Given the description of an element on the screen output the (x, y) to click on. 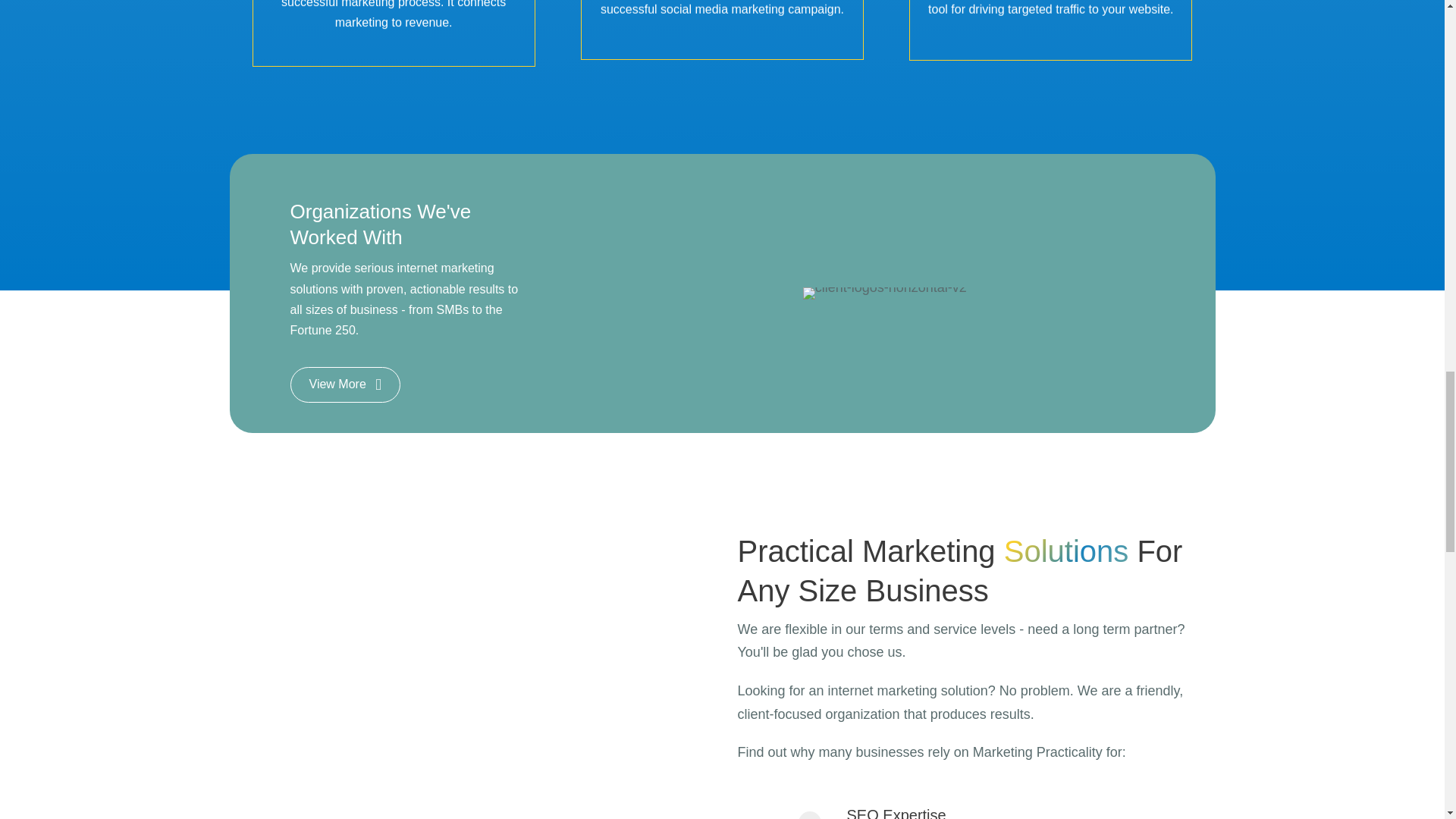
client-logos-horizontal-v2 (884, 293)
View More (343, 384)
Click Here (1050, 25)
Click Here (722, 24)
Learn More (722, 24)
Learn More (1050, 25)
Click Here (393, 28)
Learn More (393, 28)
